Given the description of an element on the screen output the (x, y) to click on. 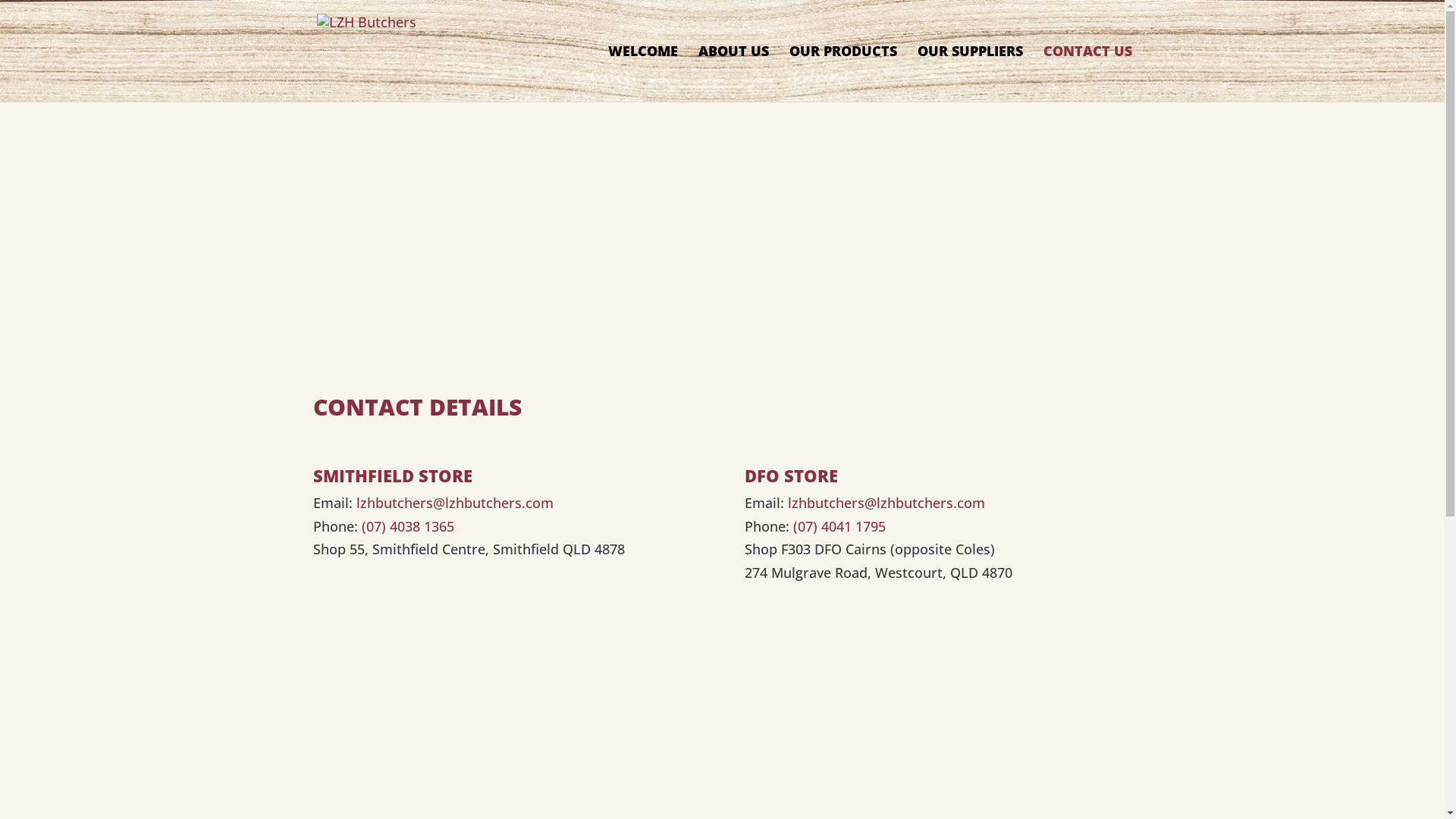
lzhbutchers@lzhbutchers.com Element type: text (454, 502)
lzhbutchers@lzhbutchers.com Element type: text (886, 502)
(07) 4038 1365 Element type: text (406, 526)
CONTACT US Element type: text (1087, 73)
OUR PRODUCTS Element type: text (842, 73)
ABOUT US Element type: text (732, 73)
(07) 4041 1795 Element type: text (839, 526)
WELCOME Element type: text (642, 73)
OUR SUPPLIERS Element type: text (969, 73)
